Given the description of an element on the screen output the (x, y) to click on. 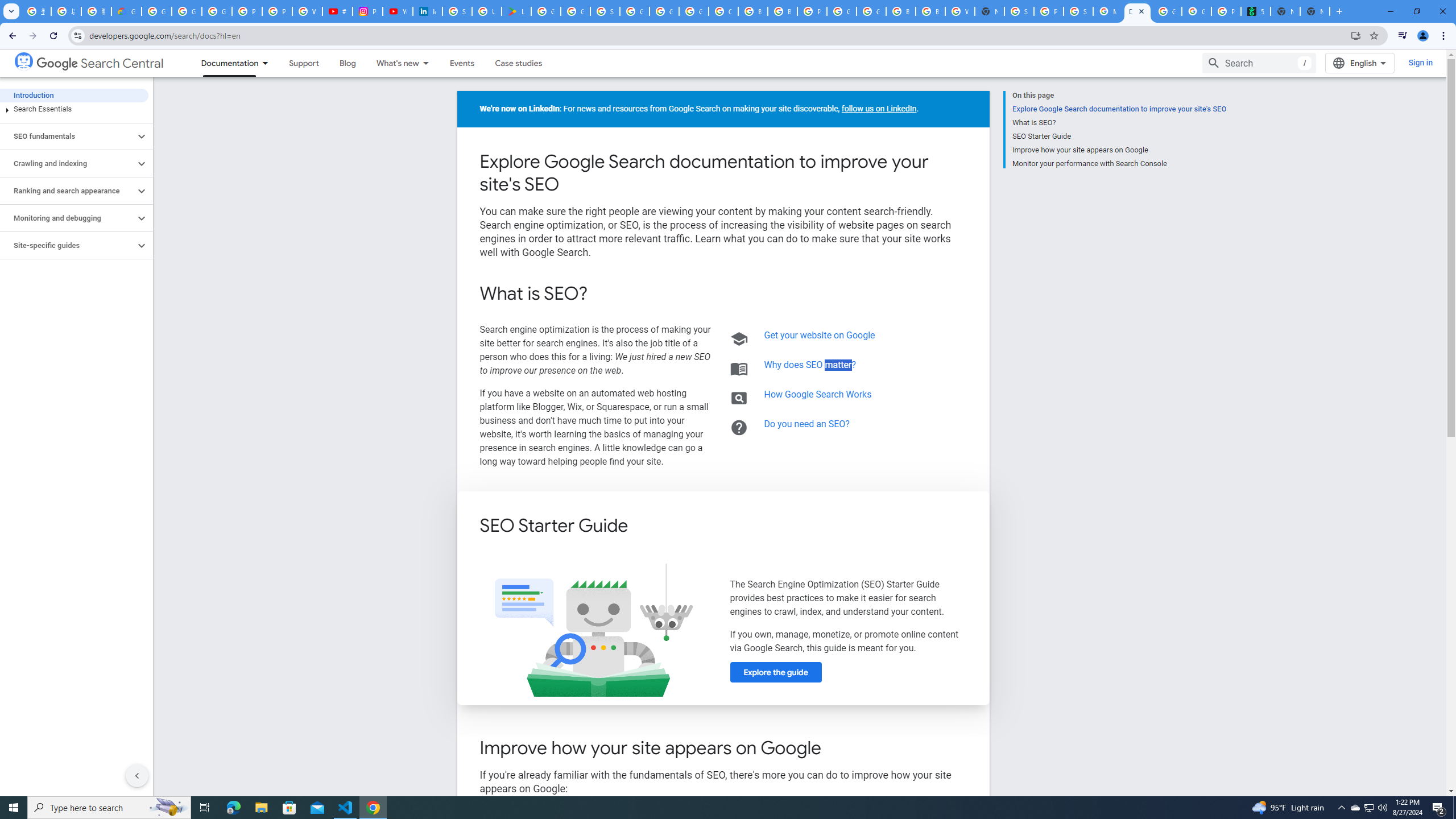
New Tab (989, 11)
How Google Search Works (818, 394)
YouTube Culture & Trends - On The Rise: Handcam Videos (397, 11)
Do you need an SEO? (807, 423)
Ranking and search appearance (67, 191)
Google Cloud Platform (841, 11)
